Given the description of an element on the screen output the (x, y) to click on. 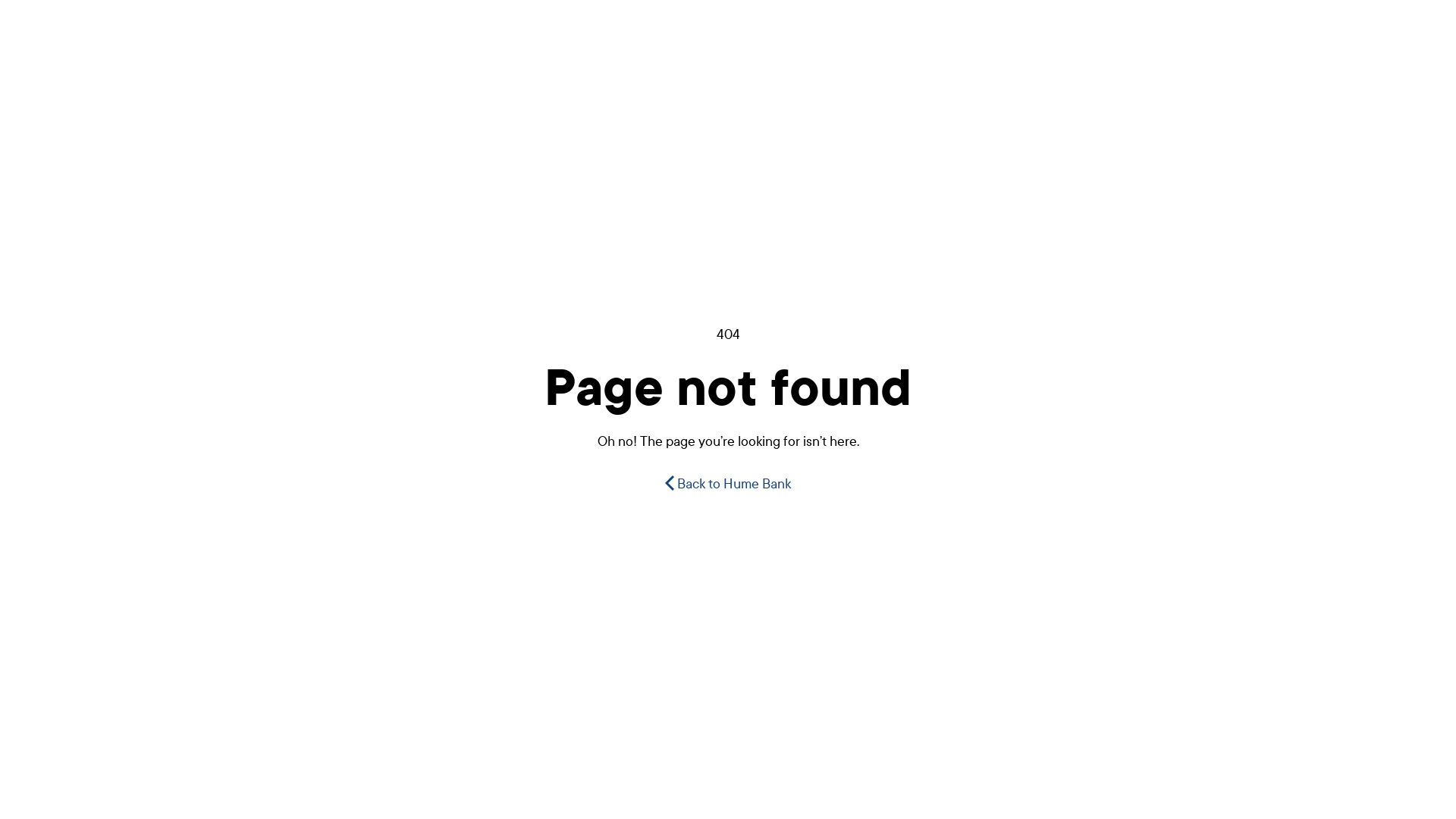
Back to Hume Bank Element type: text (727, 484)
